Given the description of an element on the screen output the (x, y) to click on. 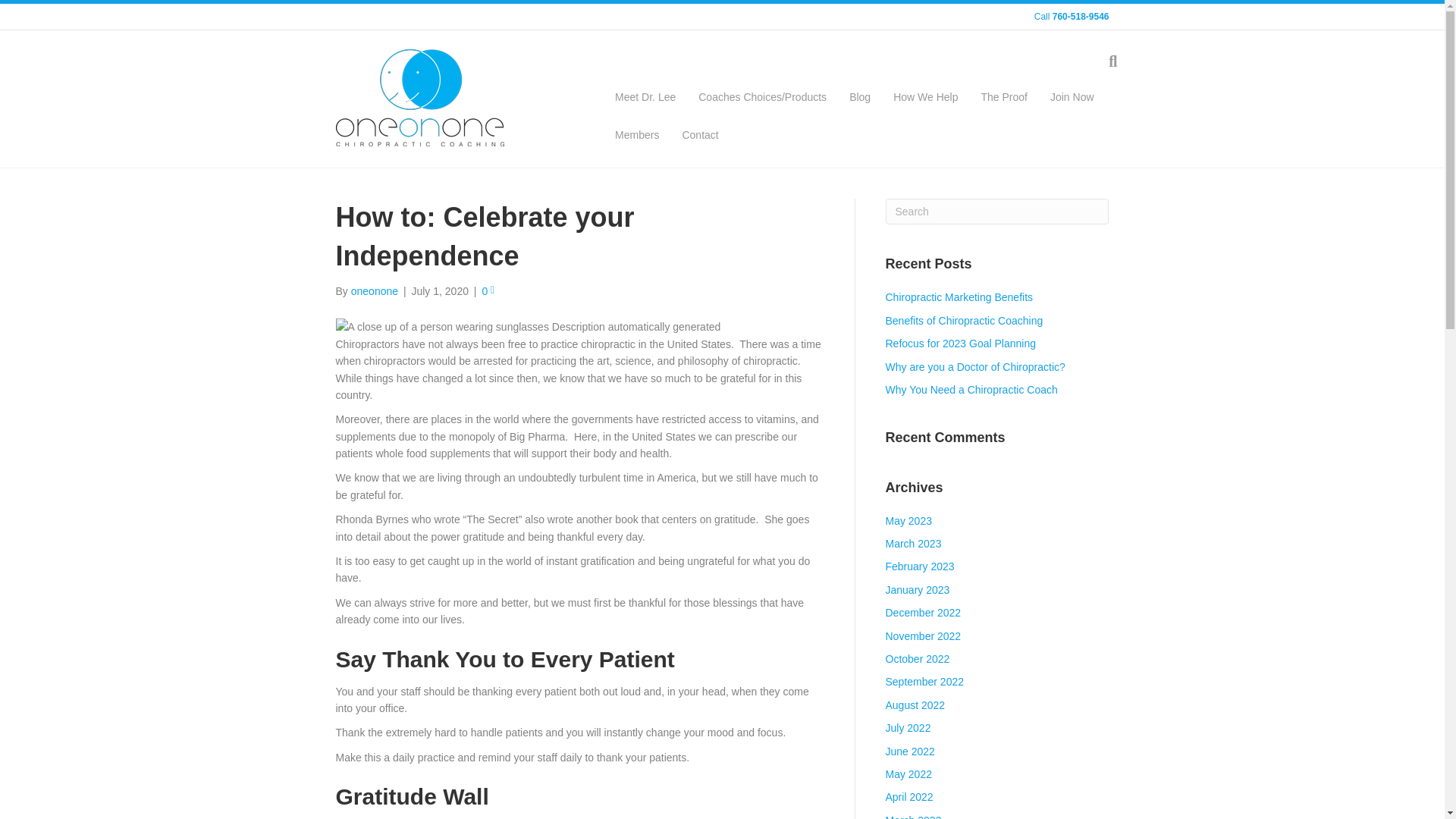
March 2023 (913, 543)
How We Help (925, 97)
Blog (860, 97)
Why You Need a Chiropractic Coach (971, 389)
0 (488, 291)
Refocus for 2023 Goal Planning (960, 343)
Search (997, 211)
Contact (699, 135)
May 2023 (908, 521)
Chiropractic Marketing Benefits (959, 297)
